Given the description of an element on the screen output the (x, y) to click on. 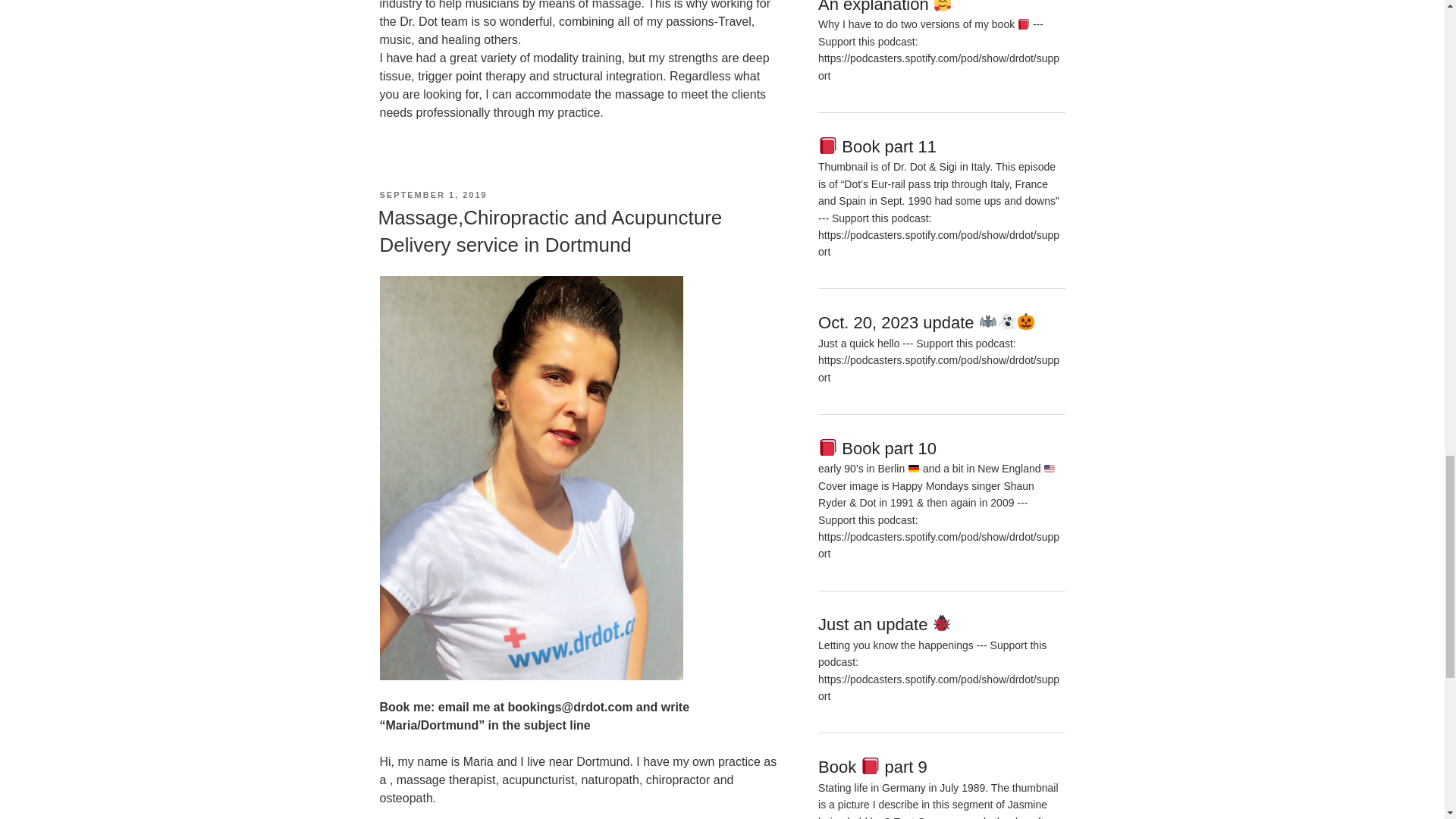
Book part 11 (877, 146)
An explanation (885, 6)
Book part 10 (877, 447)
Book part 9 (872, 766)
Oct. 20, 2023 update (926, 322)
Just an update (885, 624)
SEPTEMBER 1, 2019 (432, 194)
